Given the description of an element on the screen output the (x, y) to click on. 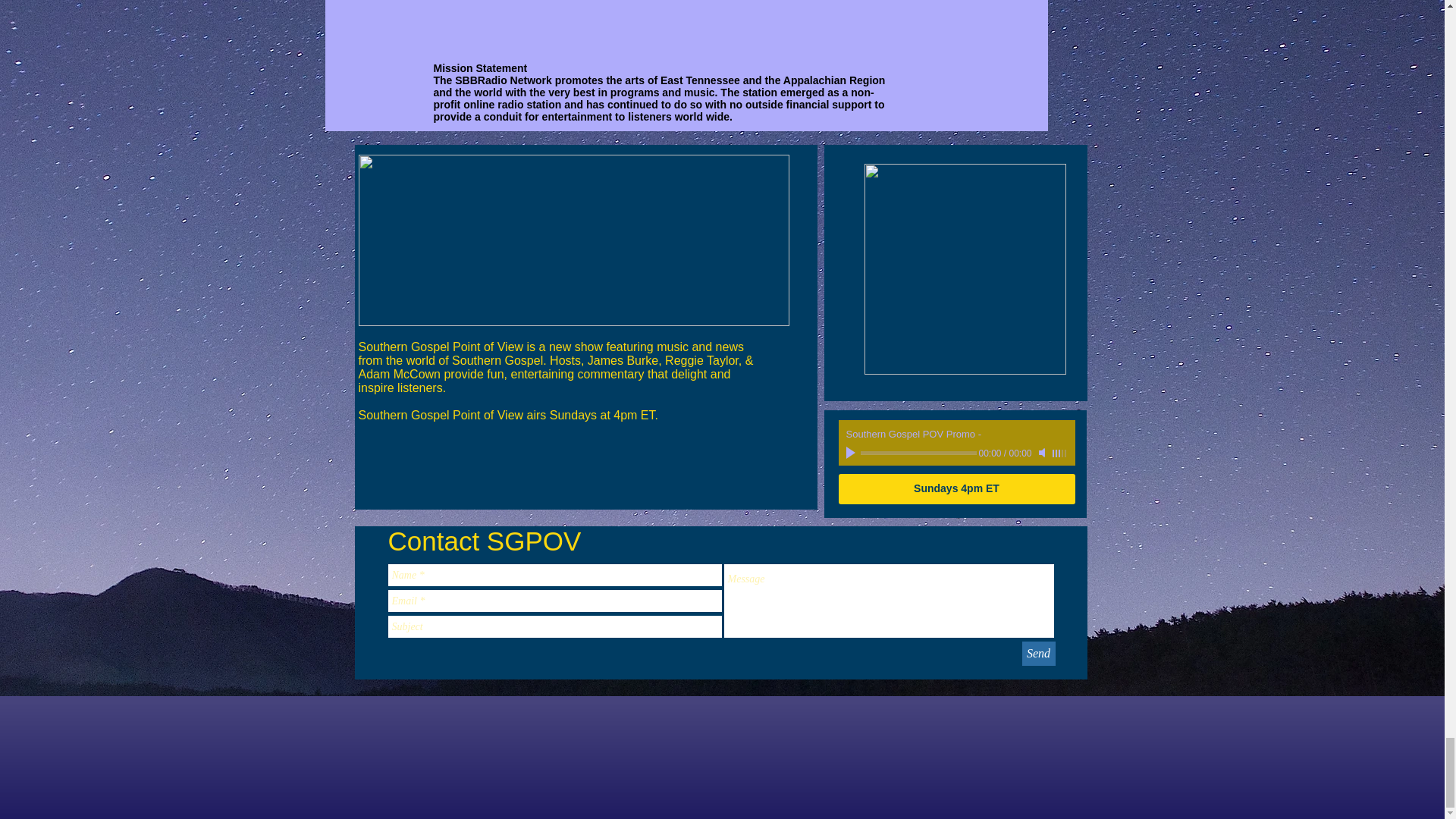
Send (1038, 653)
0 (917, 453)
